Given the description of an element on the screen output the (x, y) to click on. 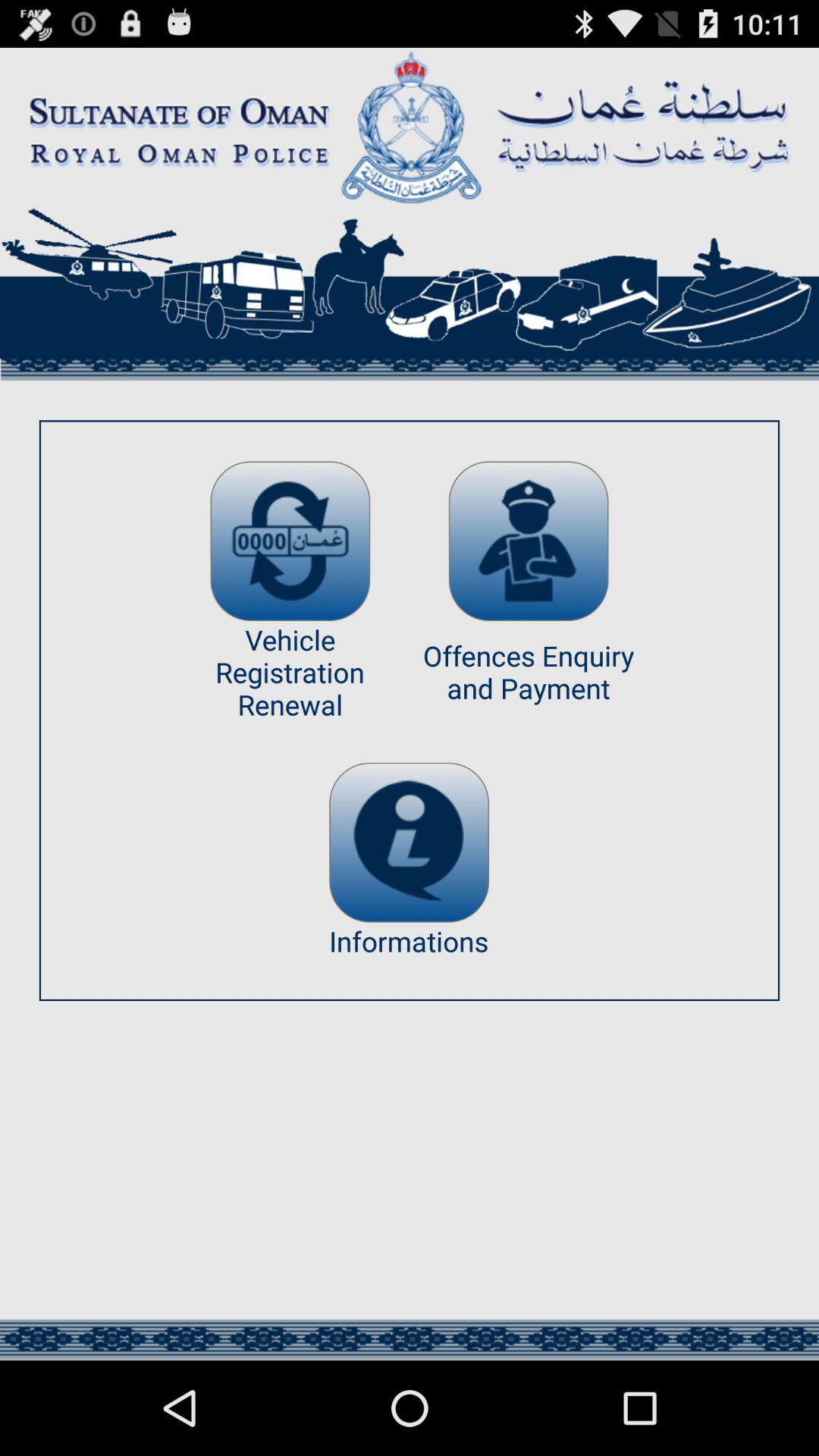
shift option (290, 541)
